Given the description of an element on the screen output the (x, y) to click on. 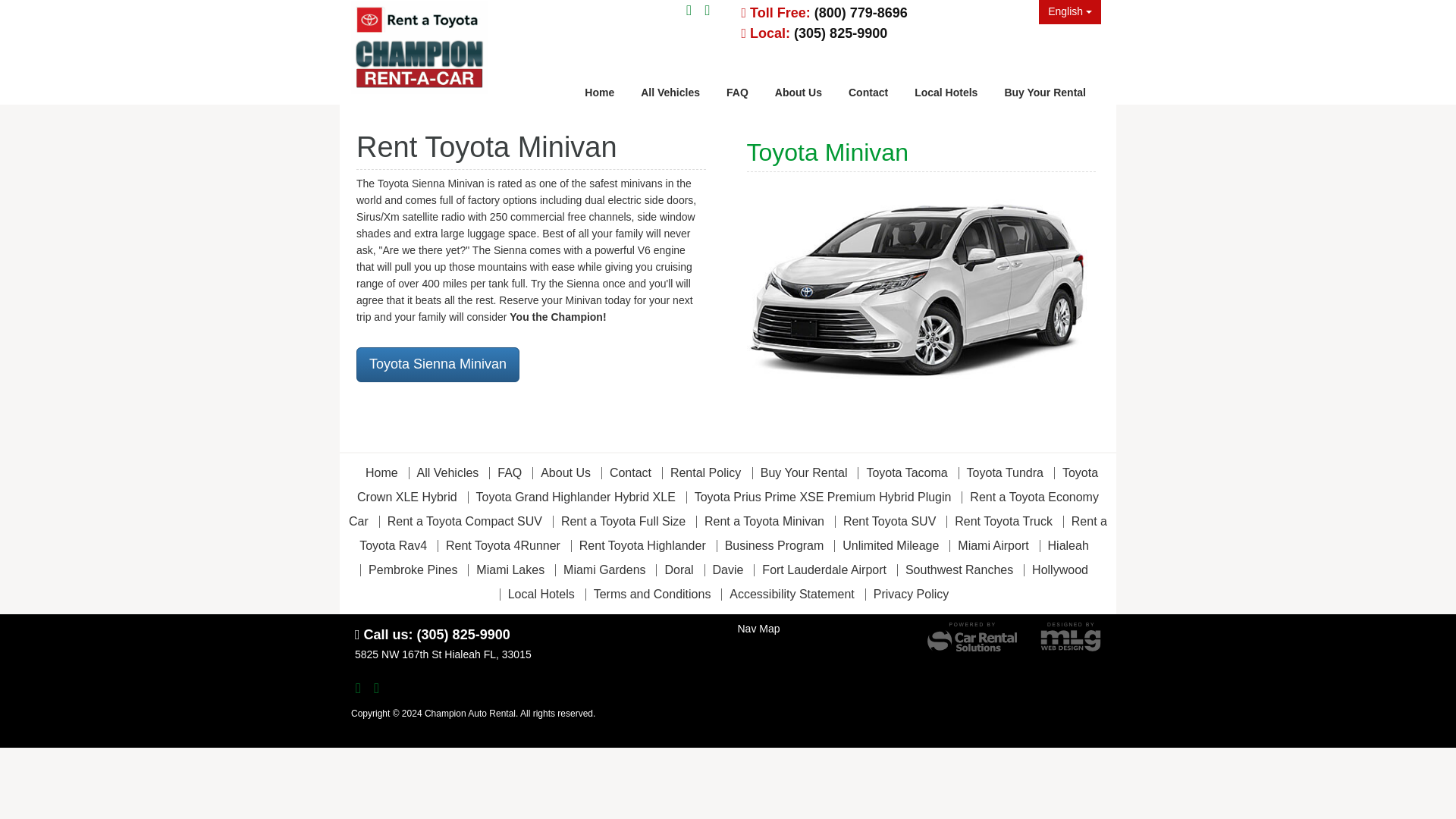
Toyota Minivan (920, 292)
All Vehicles (669, 91)
About Us (565, 472)
Toyota Minivan (920, 293)
Rent a Toyota Rav4 (732, 533)
Champion Auto Rental (435, 50)
Toyota Prius Prime XSE Premium Hybrid Plugin rentals (823, 496)
Toyota Prius Prime XSE Premium Hybrid Plugin (823, 496)
Toyota Tundra (1005, 472)
Buy Your Rental (804, 472)
Buy Your Rental (1044, 91)
Toyota Tacoma (907, 472)
About Us (797, 91)
Rent a Toyota Economy Car (724, 508)
Home (599, 91)
